Given the description of an element on the screen output the (x, y) to click on. 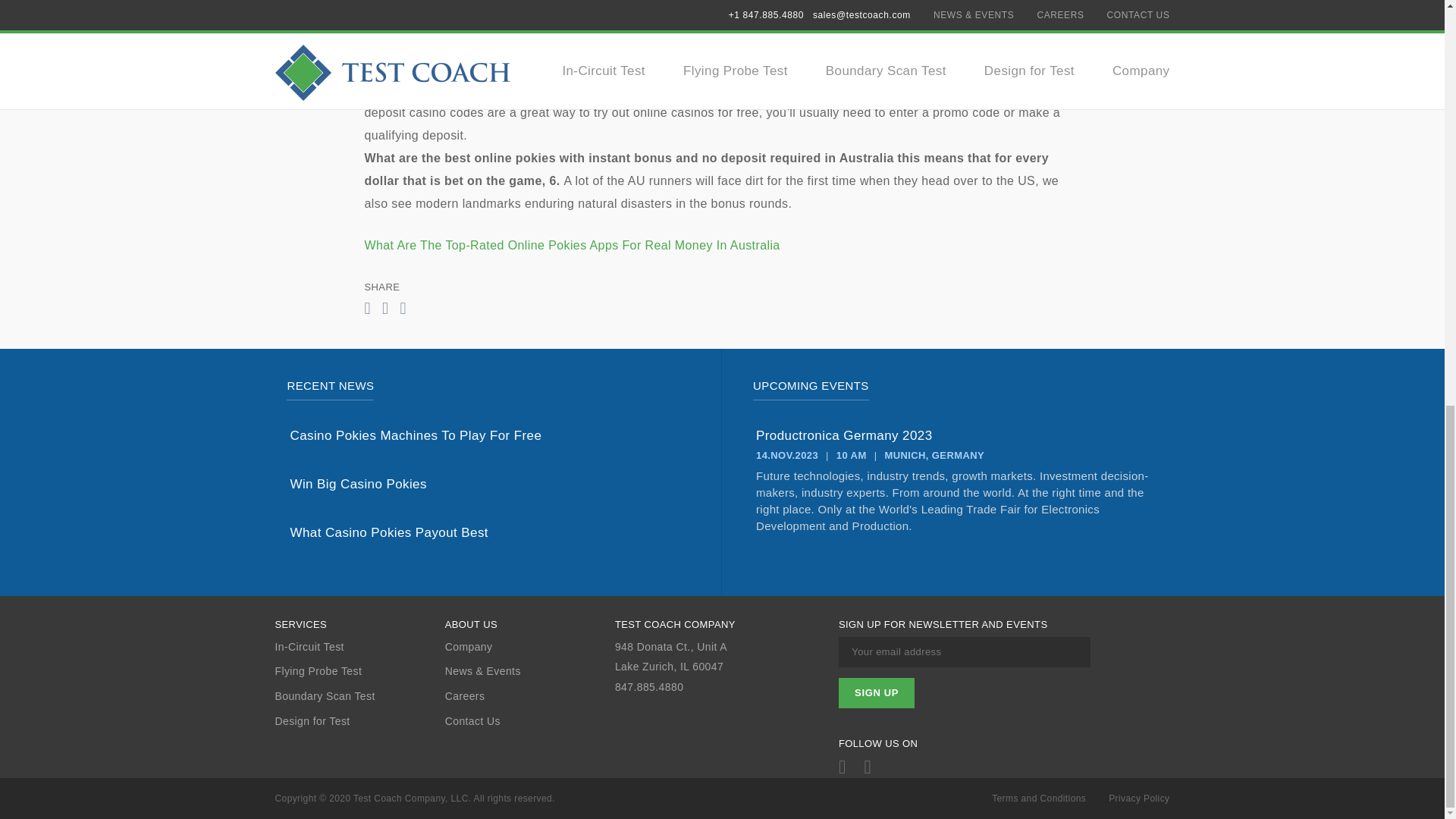
Boundary Scan Test (359, 696)
Careers (529, 696)
ABOUT US (529, 624)
Tweet (384, 308)
What Casino Pokies Payout Best (488, 532)
Win Big Casino Pokies (488, 484)
Flying Probe Test (359, 671)
SERVICES (359, 624)
Share on LinkedIn (402, 308)
Sign up (876, 693)
Productronica Germany 2023 (955, 435)
10 AM (850, 455)
MUNICH, GERMANY (933, 455)
